Given the description of an element on the screen output the (x, y) to click on. 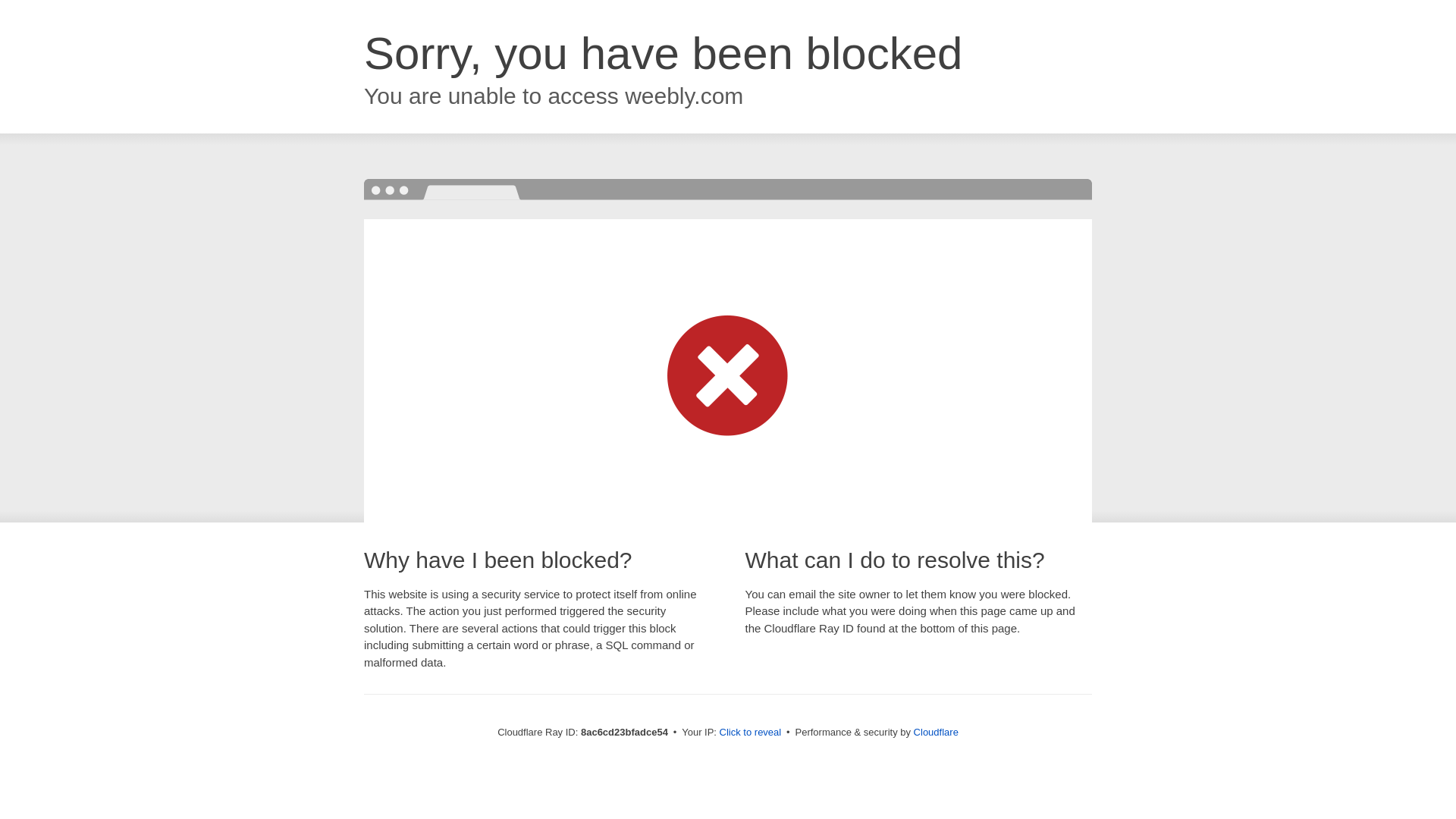
Cloudflare (936, 731)
Click to reveal (750, 732)
